Given the description of an element on the screen output the (x, y) to click on. 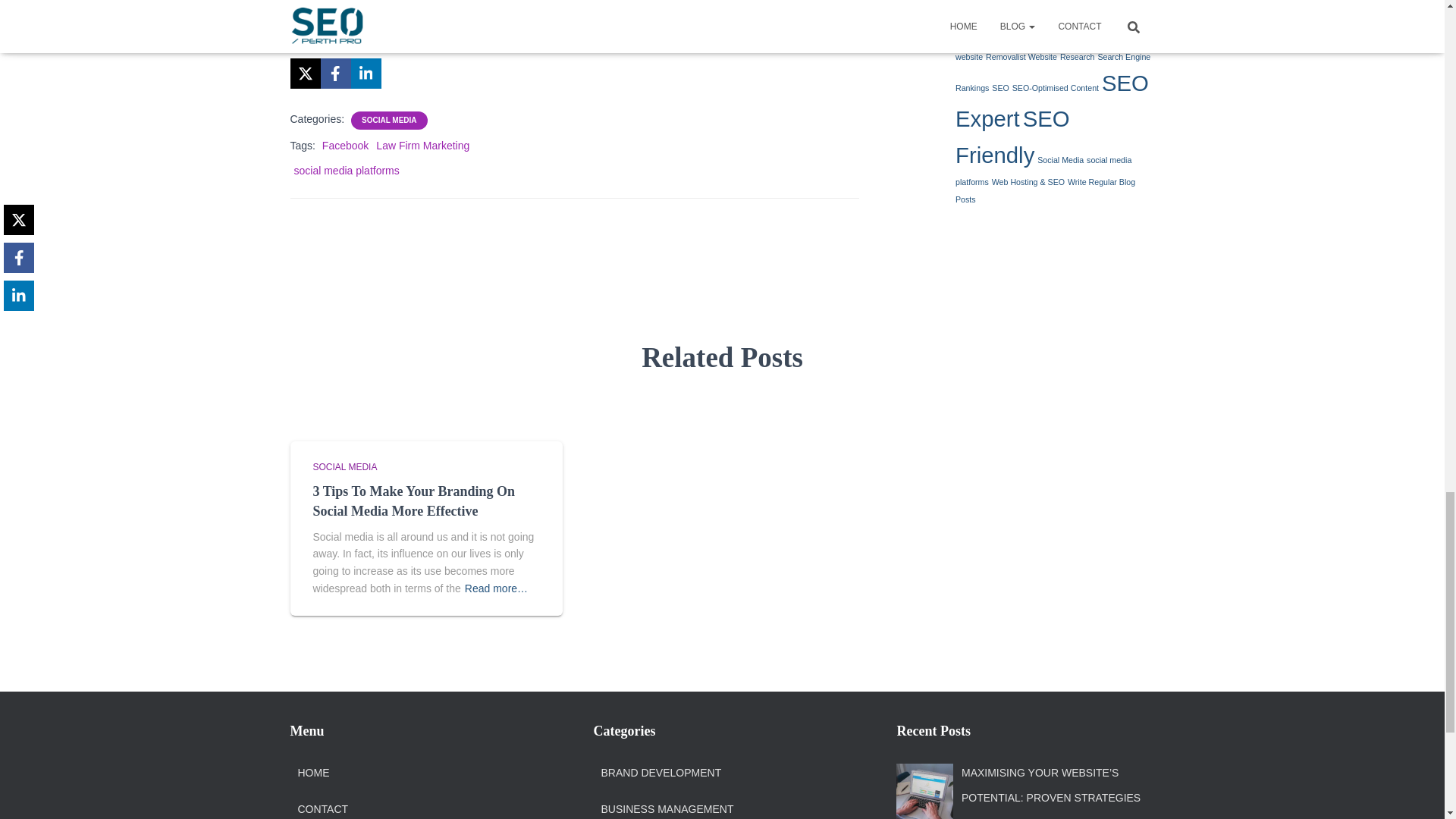
Law Firm Marketing (421, 145)
3 Tips To Make Your Branding On Social Media More Effective (413, 500)
SOCIAL MEDIA (389, 120)
social media platforms (346, 169)
View all posts in Social Media (345, 466)
Facebook (344, 145)
